Given the description of an element on the screen output the (x, y) to click on. 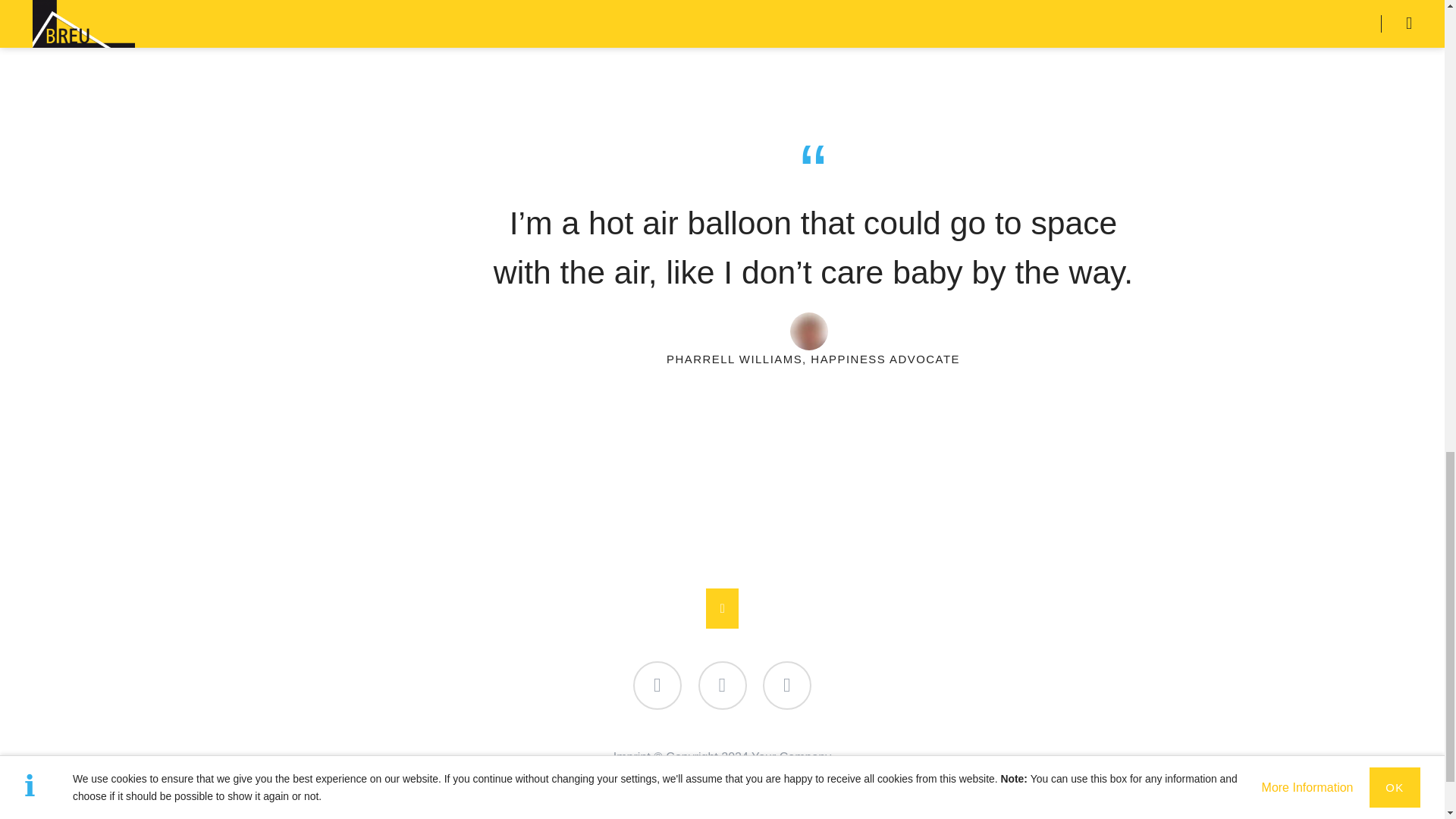
PHARRELL WILLIAMS, HAPPINESS ADVOCATE (812, 358)
